Given the description of an element on the screen output the (x, y) to click on. 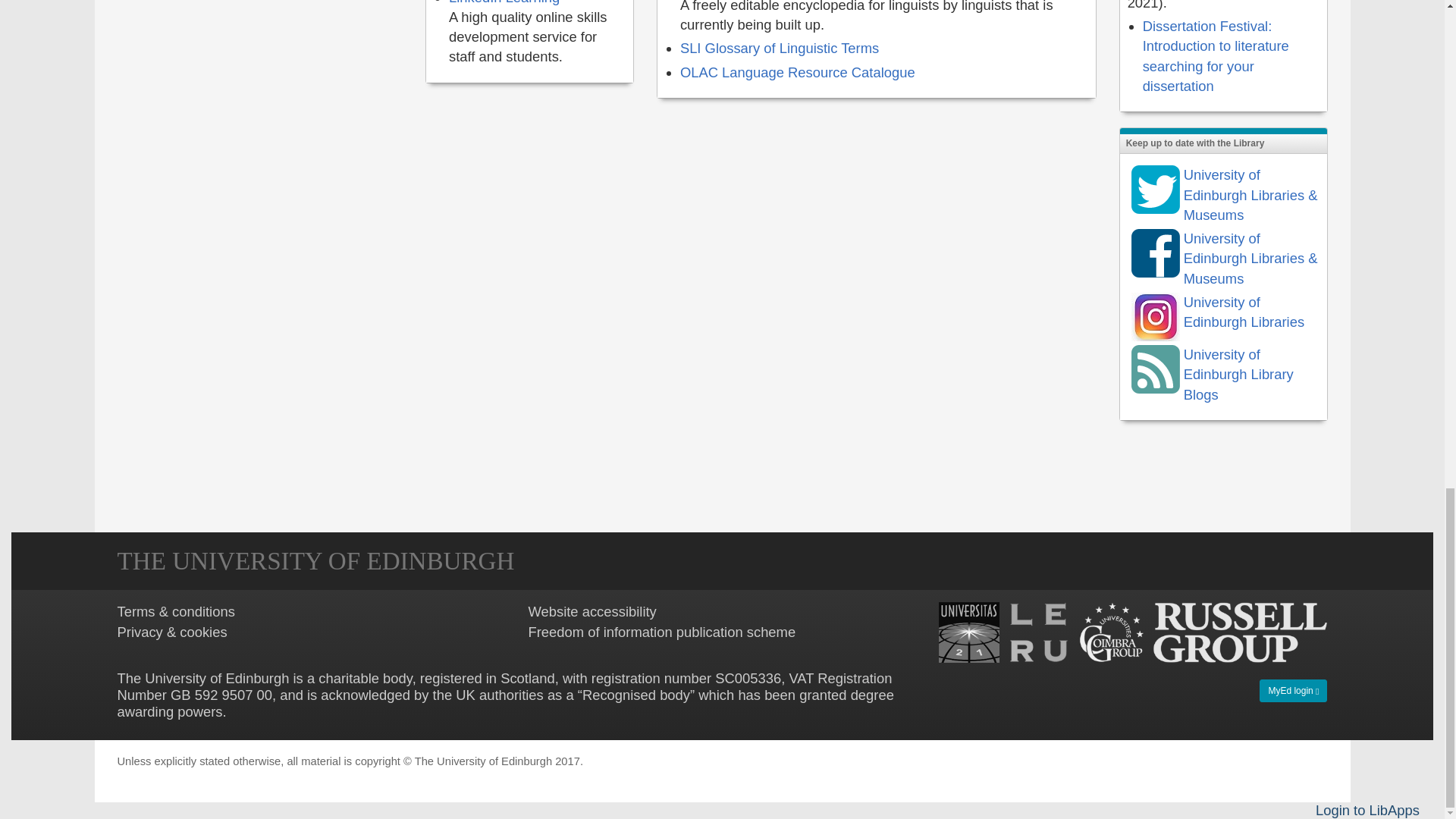
OLAC Language Resource Catalogue (797, 72)
SLI Glossary of Linguistic Terms (779, 48)
LinkedIn Learning (503, 2)
